Given the description of an element on the screen output the (x, y) to click on. 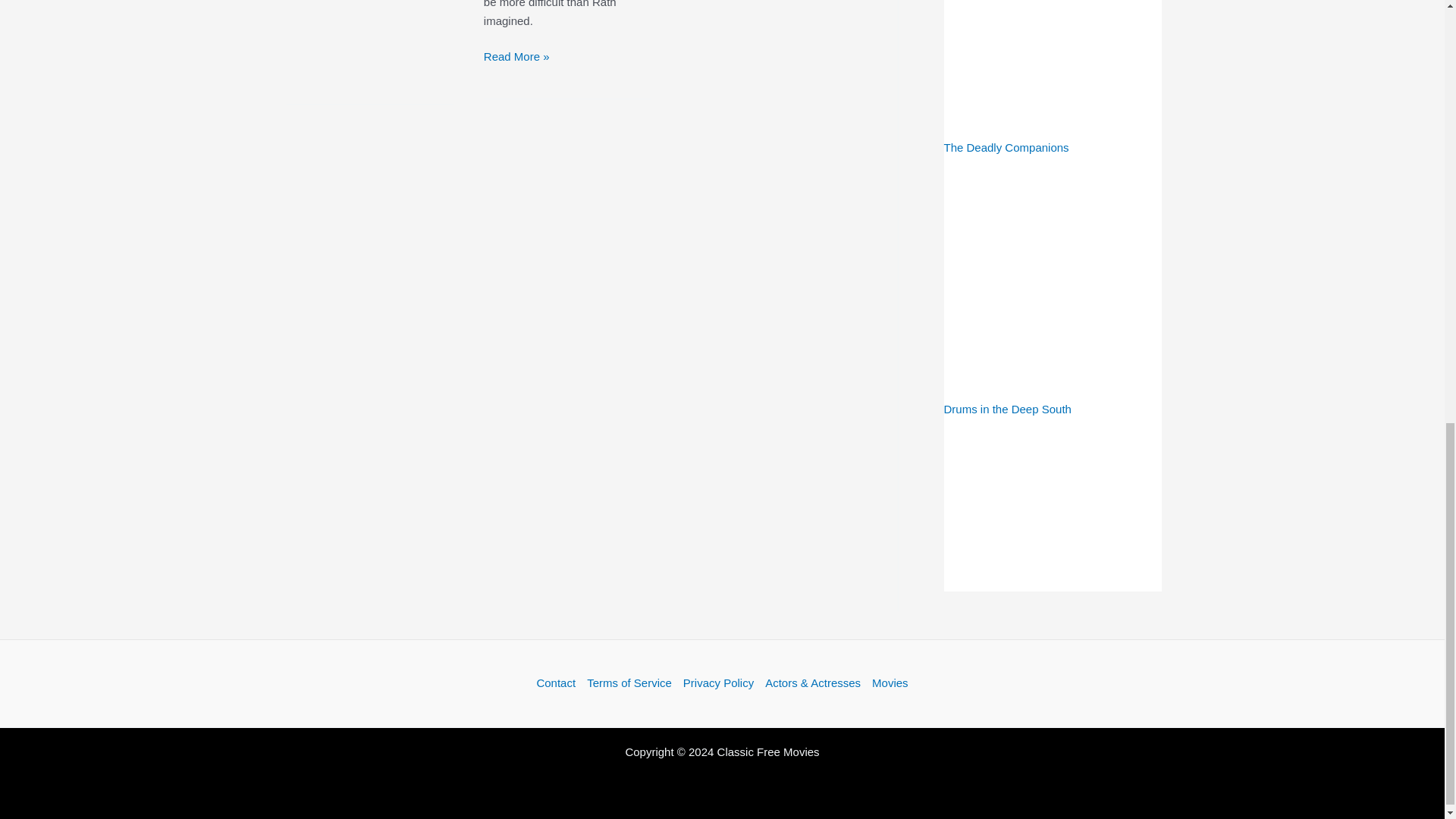
Read more about The Deadly Companions (1051, 79)
